Given the description of an element on the screen output the (x, y) to click on. 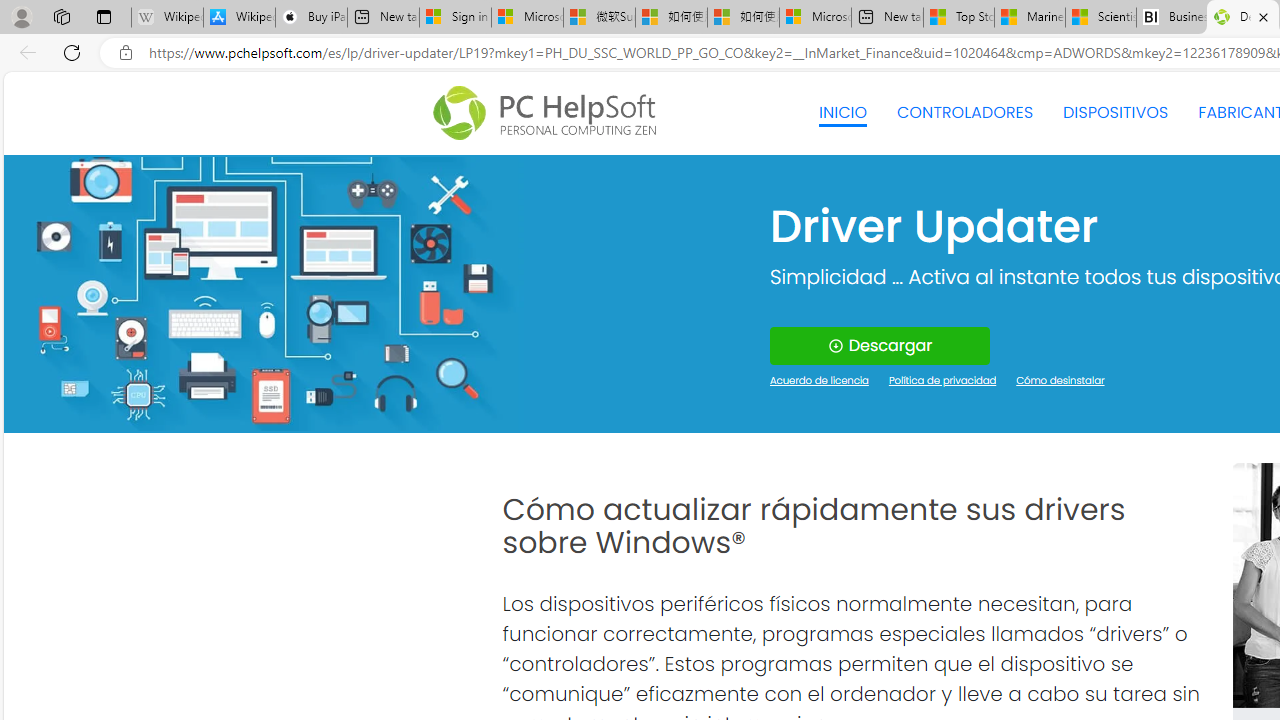
Marine life - MSN (1029, 17)
Logo Personal Computing (550, 113)
CONTROLADORES (965, 112)
INICIO (842, 112)
Download Icon Descargar (879, 345)
Microsoft account | Account Checkup (815, 17)
